Given the description of an element on the screen output the (x, y) to click on. 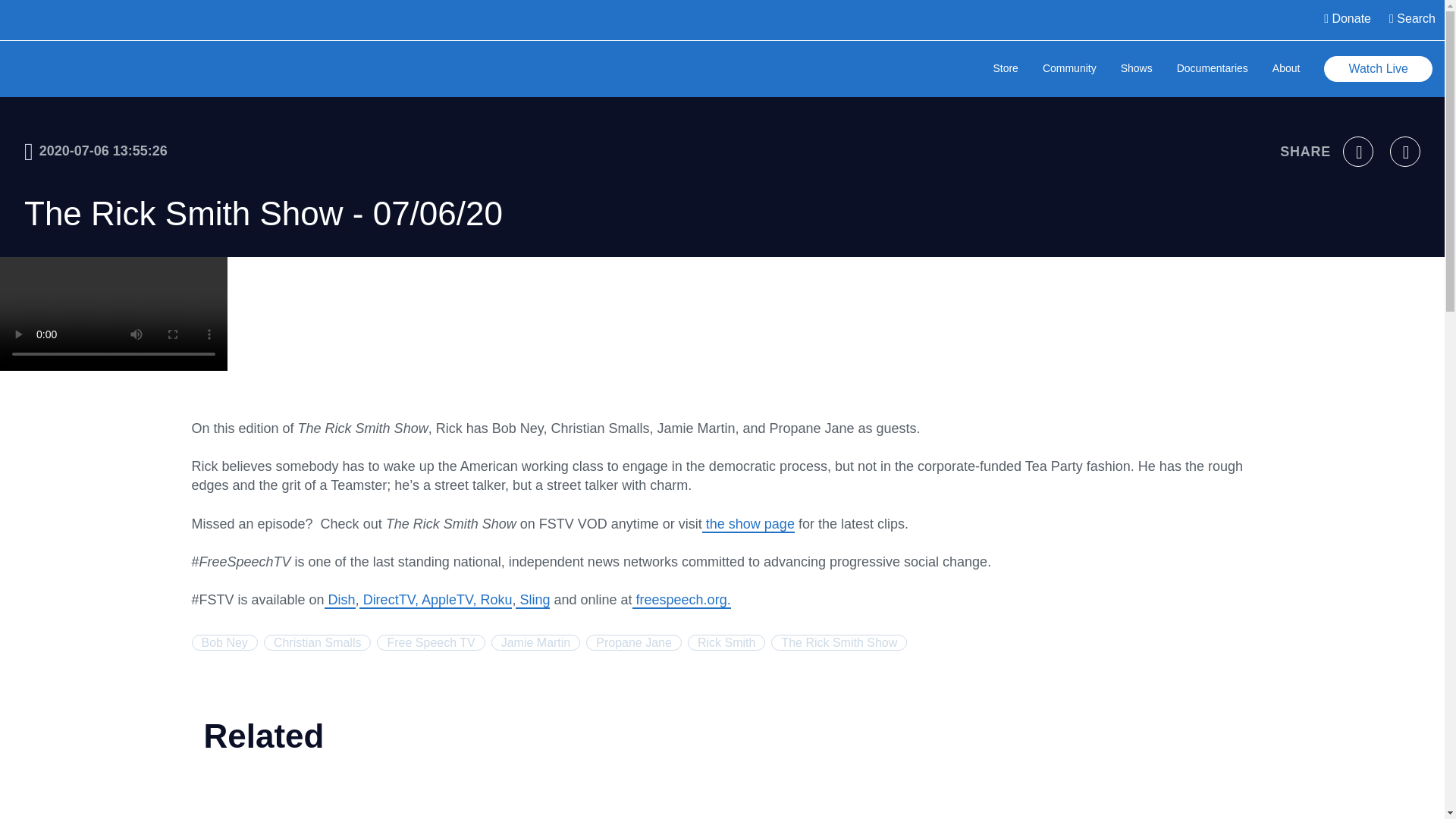
Watch Live (1377, 181)
Search (31, 13)
Donate (1411, 33)
Documentaries (1211, 181)
Community (1069, 181)
